Given the description of an element on the screen output the (x, y) to click on. 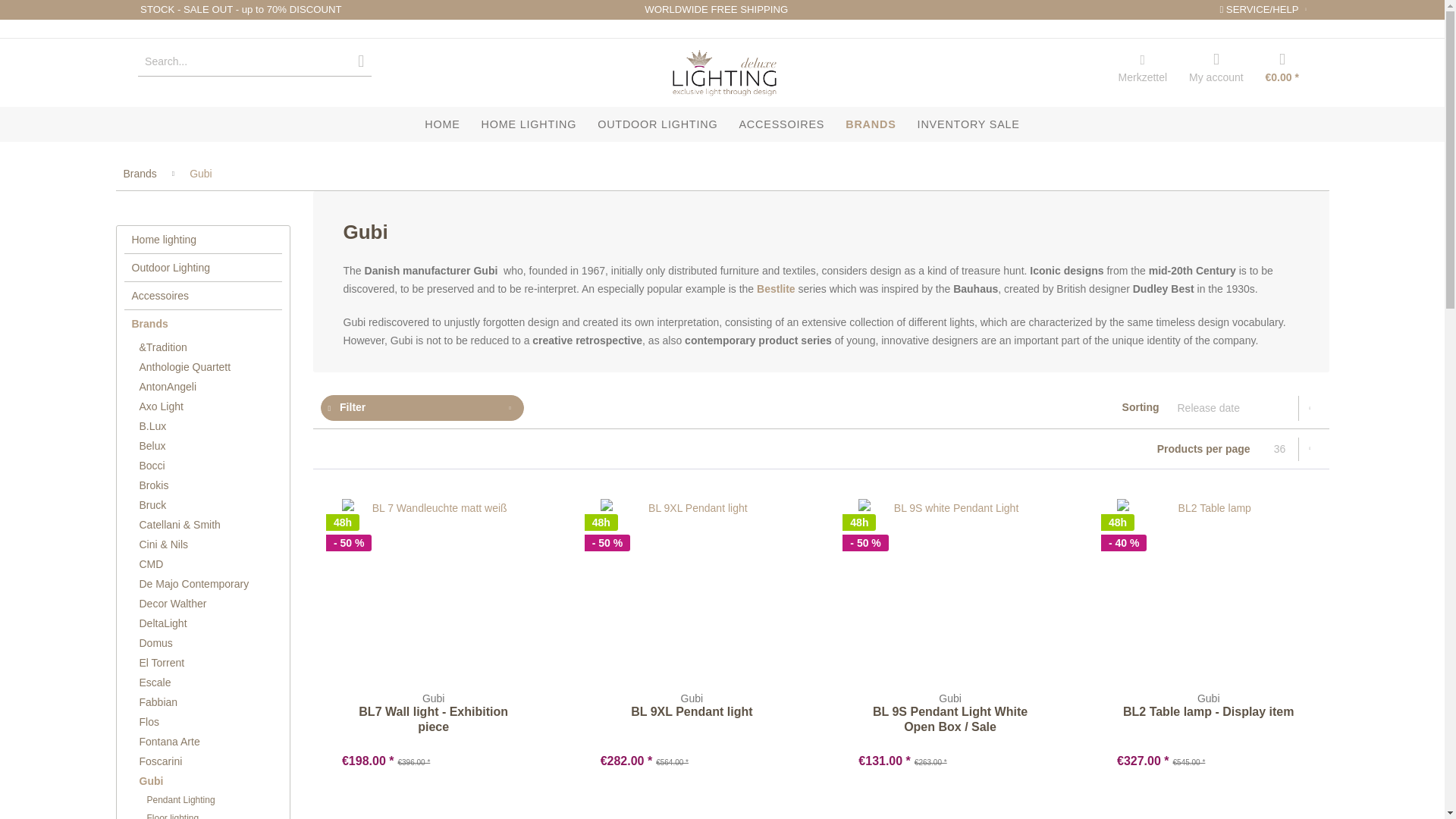
LightingDeluxe.com - Switch to homepage (724, 71)
INVENTORY SALE (968, 124)
ACCESSOIRES (781, 124)
Brands (139, 173)
Home lighting (202, 239)
HOME LIGHTING (529, 124)
Gubi (200, 173)
Outdoor Lighting (202, 267)
OUTDOOR LIGHTING (657, 124)
HOME (441, 124)
